Given the description of an element on the screen output the (x, y) to click on. 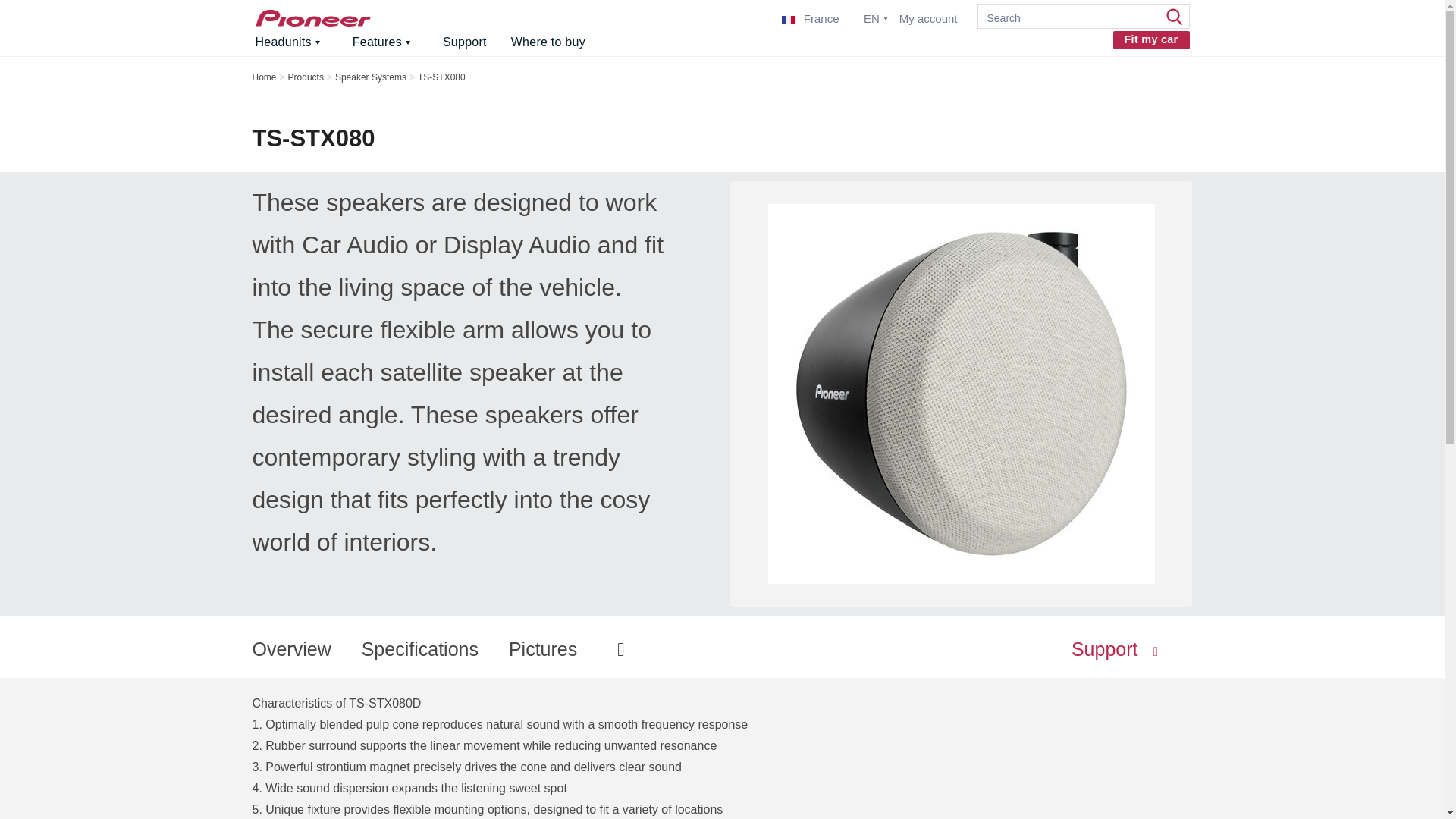
Home (311, 17)
Log in (753, 155)
Show all (16, 17)
